Given the description of an element on the screen output the (x, y) to click on. 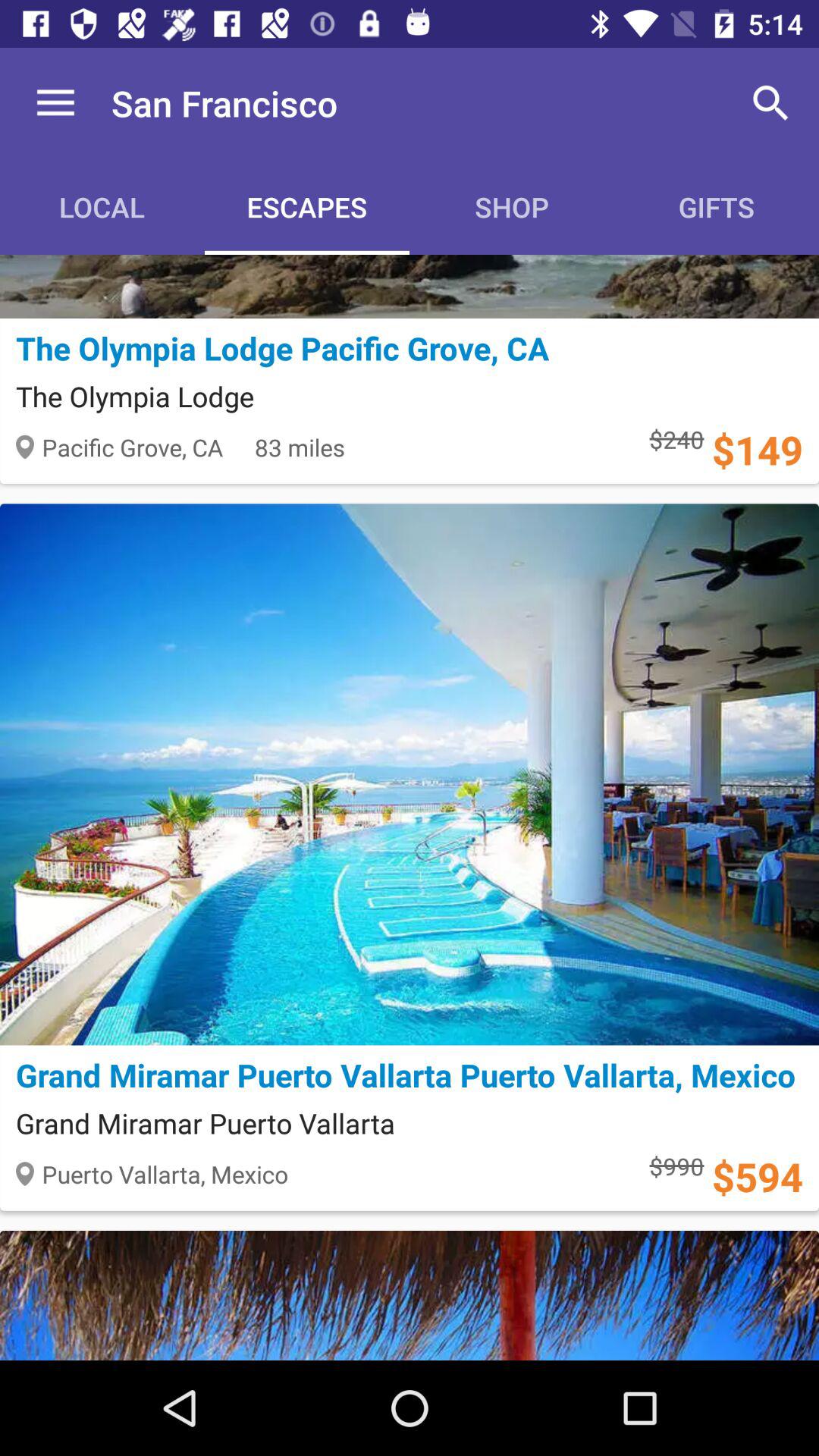
jump to the san francisco item (224, 103)
